Given the description of an element on the screen output the (x, y) to click on. 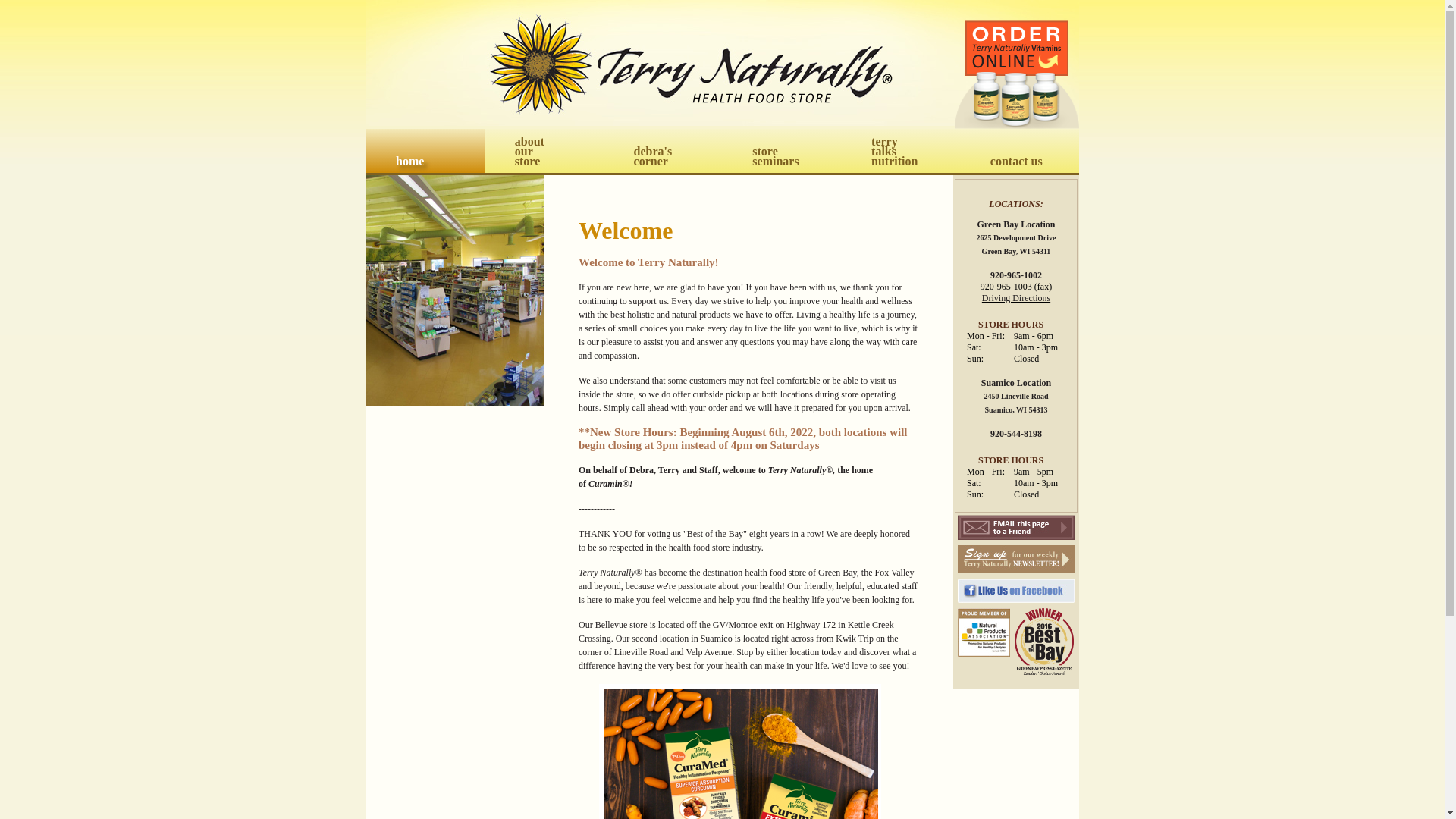
920-965-1002 (544, 150)
Driving Directions (781, 150)
home (1016, 275)
920-544-8198 (1015, 297)
contact us (424, 150)
